Given the description of an element on the screen output the (x, y) to click on. 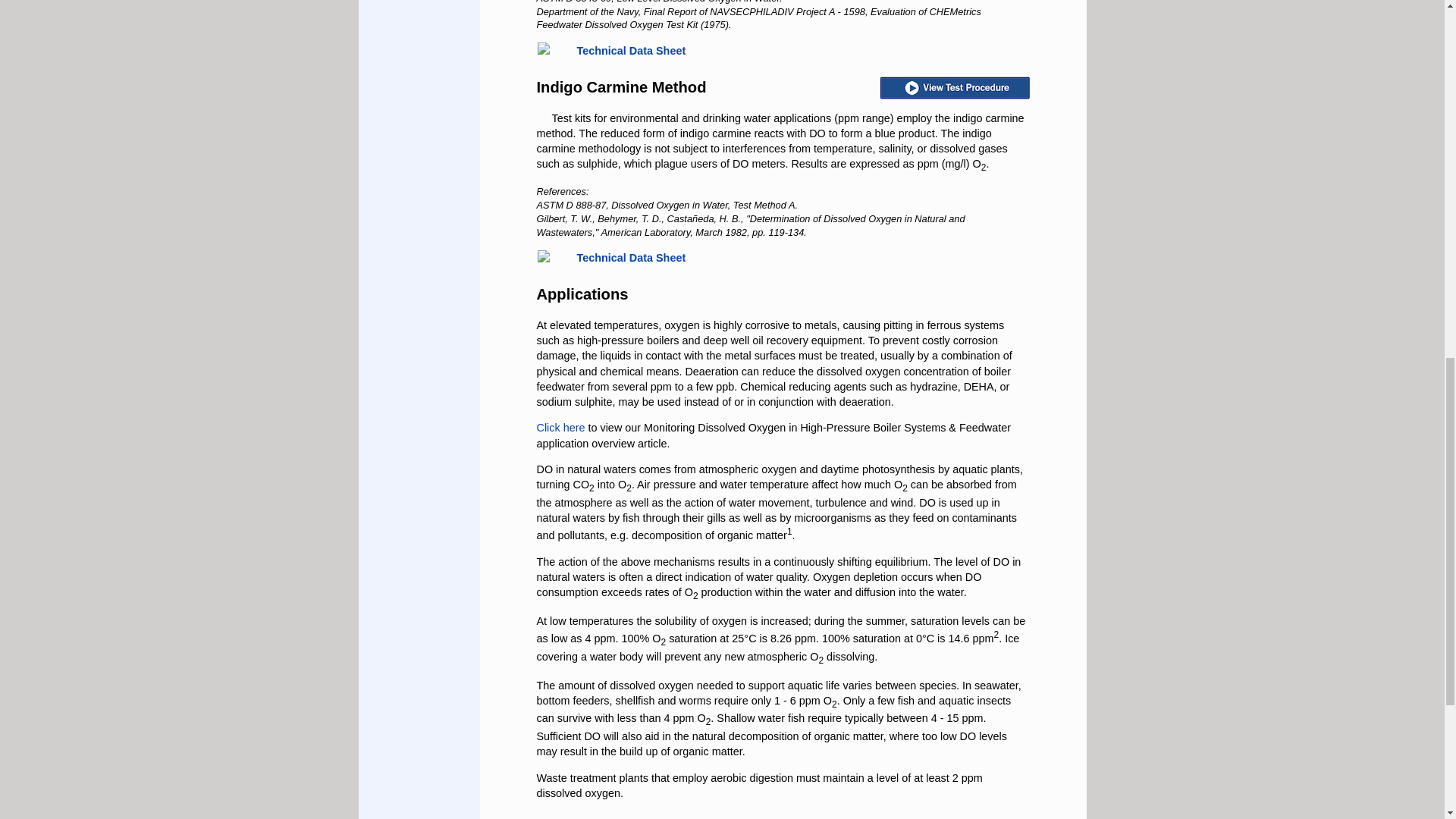
Technical Data Sheet (630, 50)
